Given the description of an element on the screen output the (x, y) to click on. 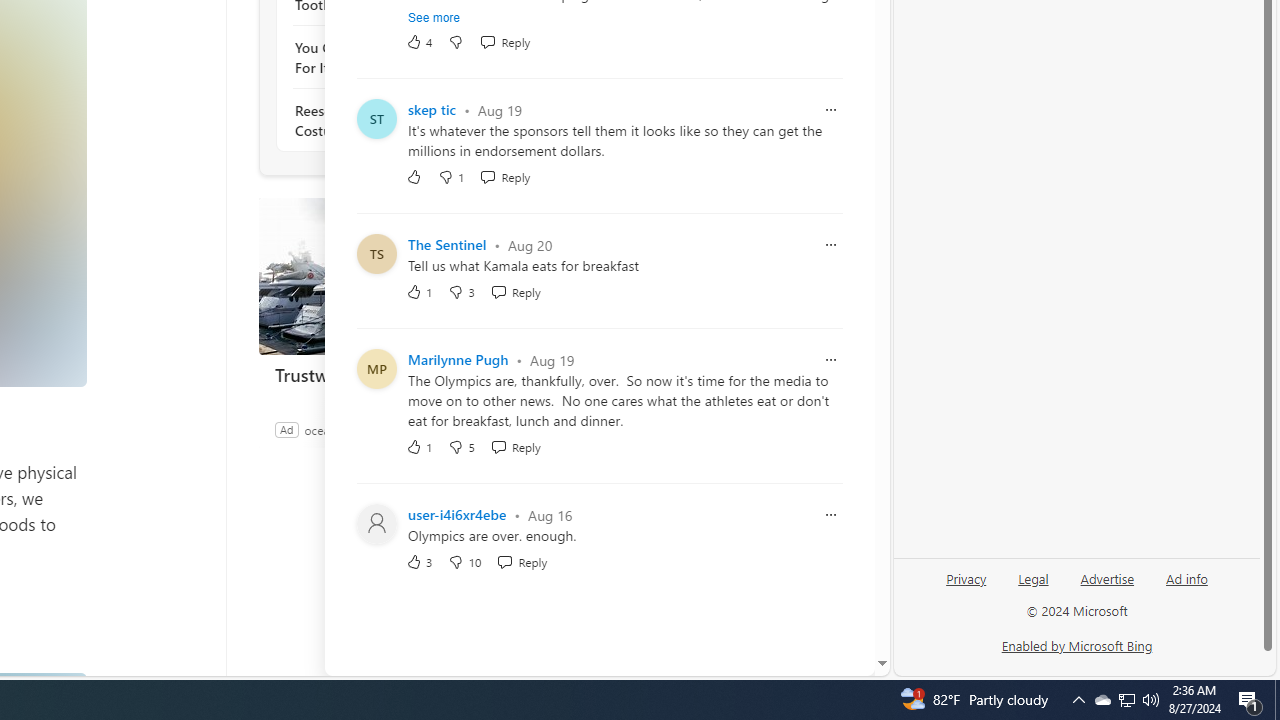
Marilynne Pugh (458, 359)
3 Like (419, 561)
skep tic (432, 110)
1 Like (419, 446)
Profile Picture (376, 523)
Trustworthy Repairs (408, 276)
Report comment (831, 514)
user-i4i6xr4ebe (457, 514)
Trustworthy Repairs (407, 374)
